Given the description of an element on the screen output the (x, y) to click on. 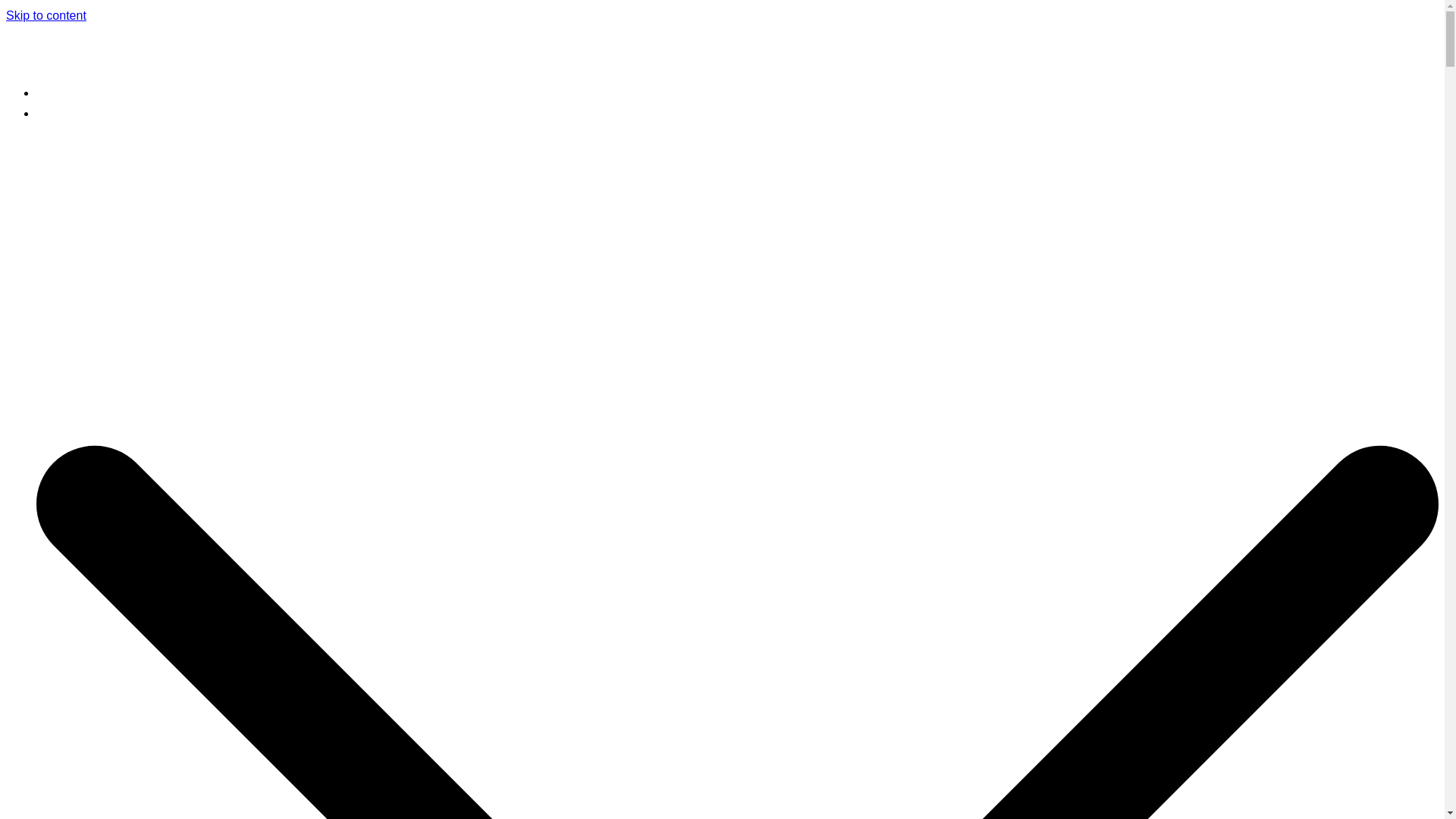
Skip to content (45, 15)
Home (52, 92)
airports-terminal.com (186, 60)
Airportsterminal (78, 113)
